Given the description of an element on the screen output the (x, y) to click on. 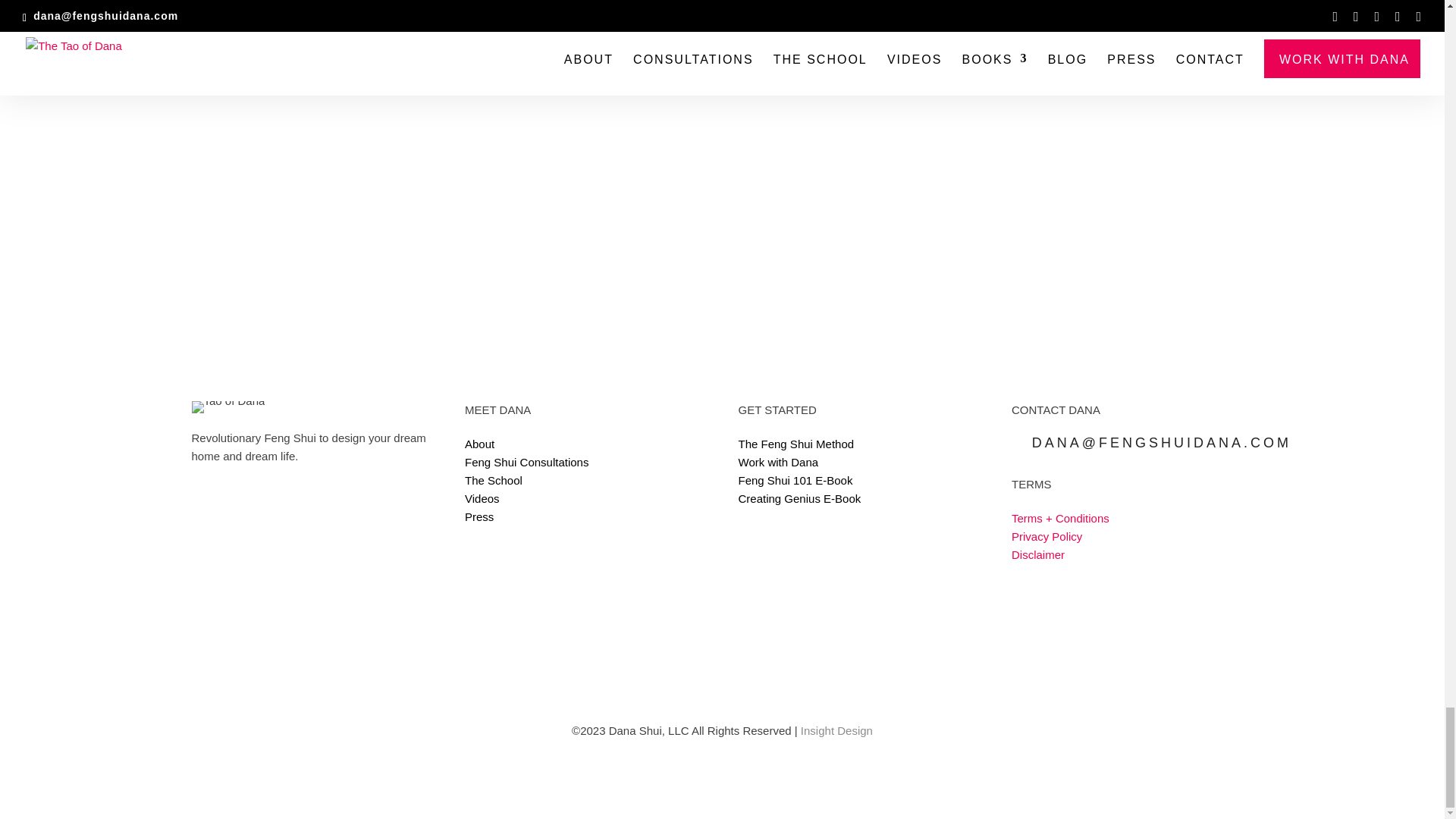
Follow on TikTok (721, 224)
Follow on Instagram (691, 224)
Learn how your comment data is processed (501, 45)
Follow on Facebook (660, 224)
Follow on Youtube (751, 224)
